Given the description of an element on the screen output the (x, y) to click on. 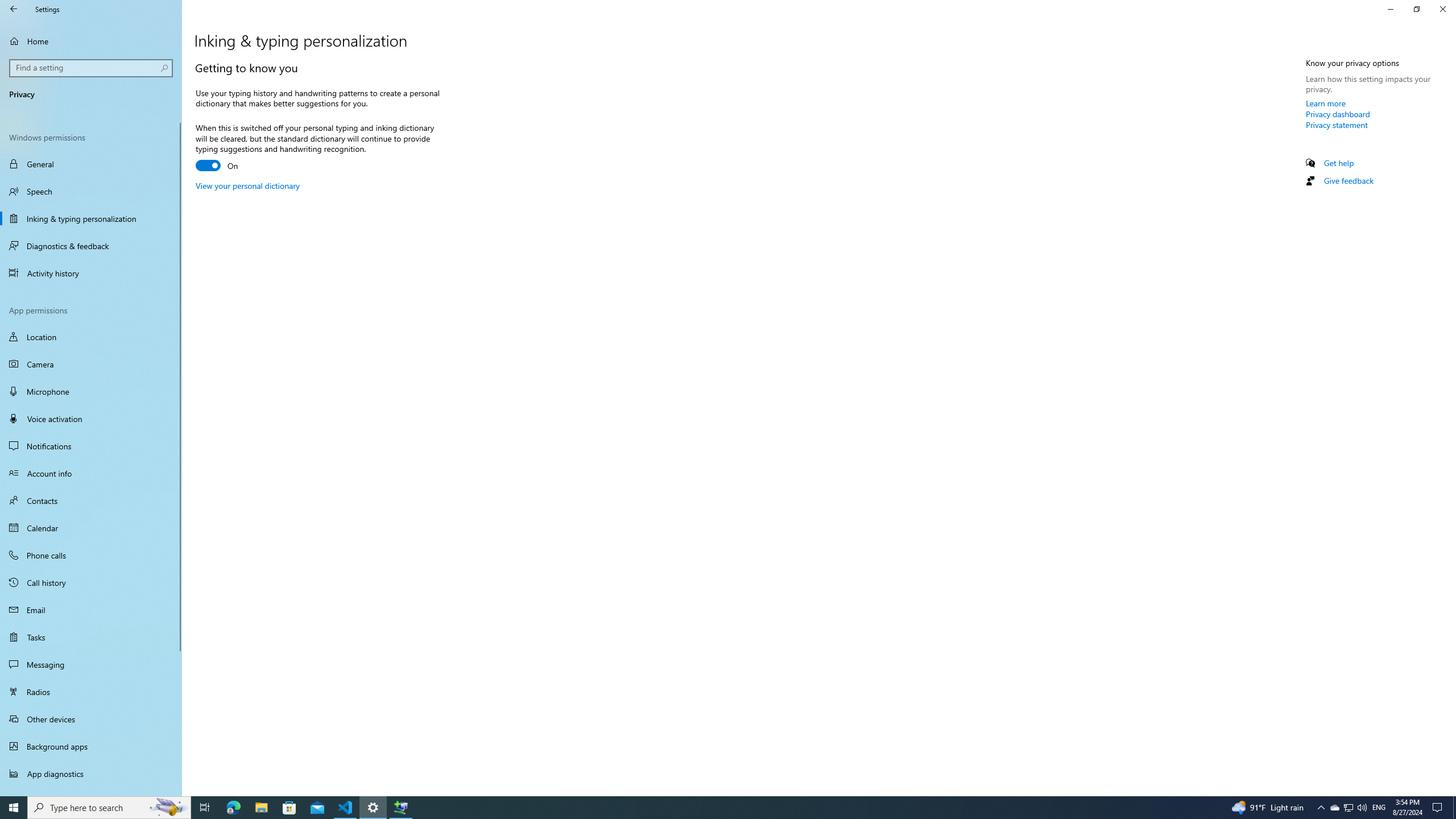
Other devices (91, 718)
Privacy statement (1336, 124)
View your personal dictionary (247, 185)
Notifications (91, 445)
Back (13, 9)
Running applications (706, 807)
Diagnostics & feedback (91, 245)
